Given the description of an element on the screen output the (x, y) to click on. 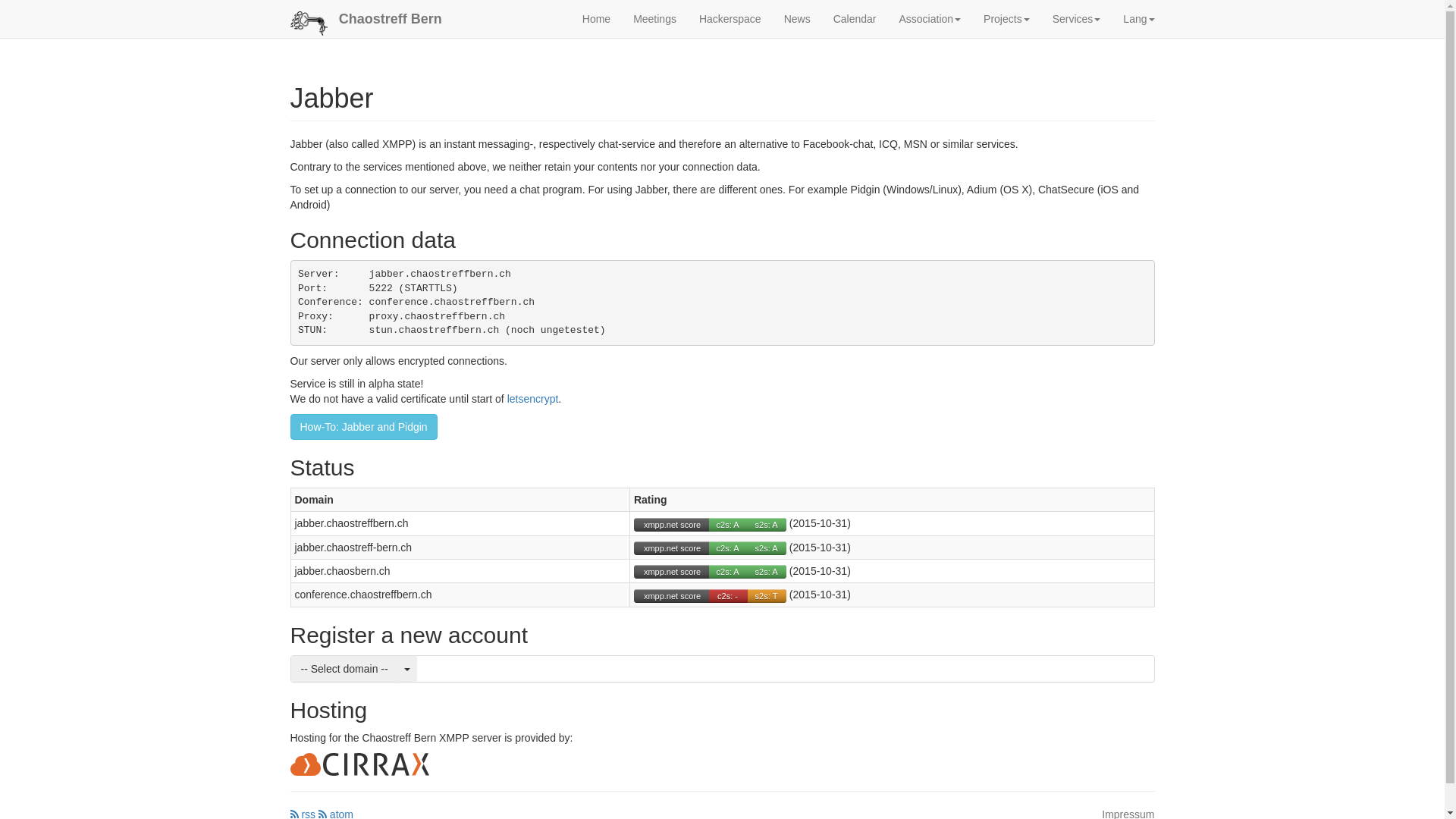
Association Element type: text (929, 18)
Home Element type: text (596, 18)
Chaostreff Bern Element type: text (390, 18)
Hackerspace Element type: text (729, 18)
letsencrypt Element type: text (532, 398)
Lang Element type: text (1138, 18)
Meetings Element type: text (654, 18)
-- Select domain -- Element type: text (344, 668)
Services Element type: text (1076, 18)
Projects Element type: text (1006, 18)
News Element type: text (797, 18)
How-To: Jabber and Pidgin Element type: text (362, 426)
Calendar Element type: text (855, 18)
